Given the description of an element on the screen output the (x, y) to click on. 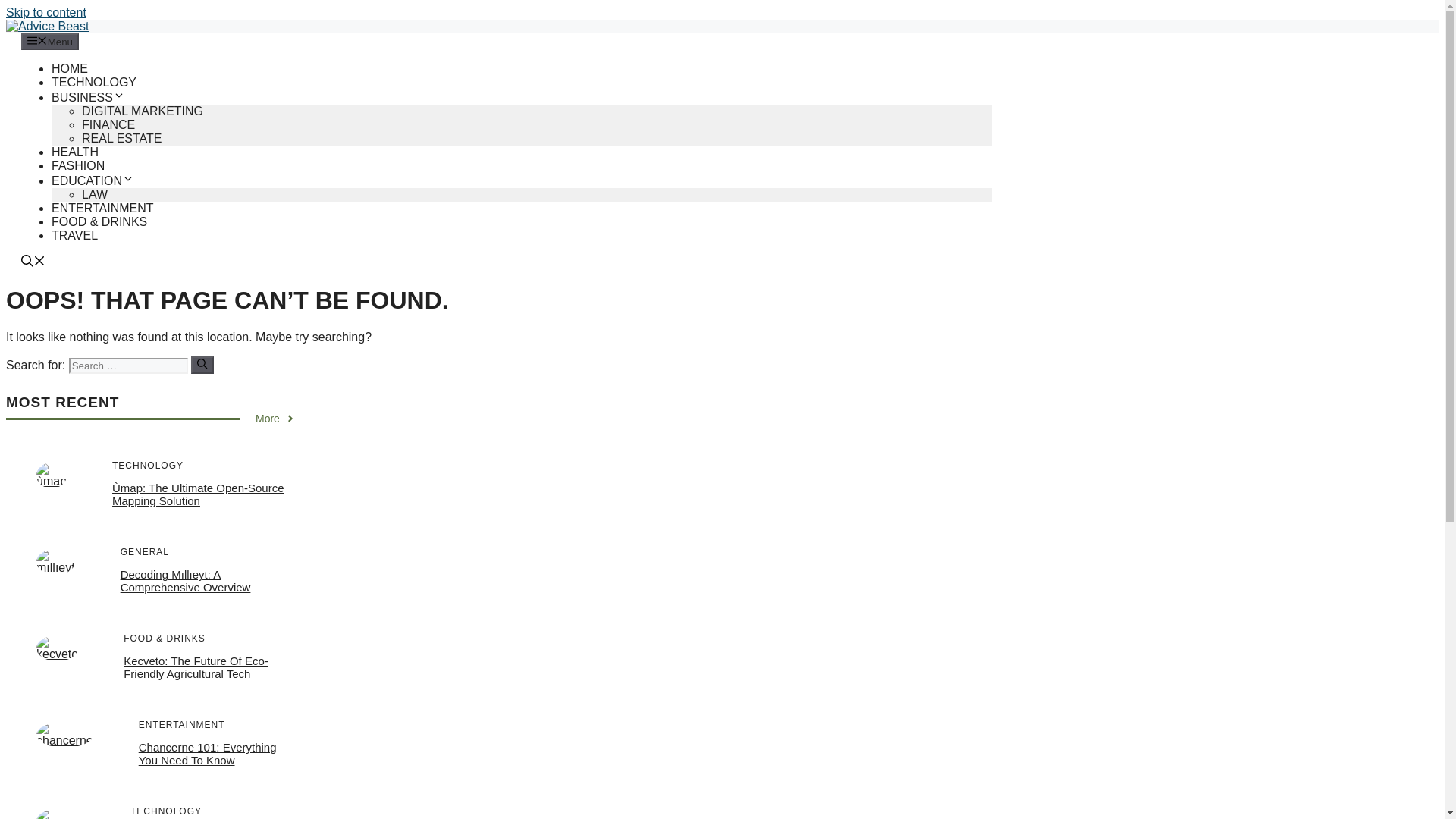
DIGITAL MARKETING (142, 110)
More (275, 418)
Menu (49, 41)
Chancerne 101: Everything You Need To Know (207, 753)
TECHNOLOGY (93, 82)
TRAVEL (73, 235)
EDUCATION (91, 180)
Skip to content (45, 11)
Kecveto: The Future Of Eco-Friendly Agricultural Tech (195, 667)
Skip to content (45, 11)
HEALTH (74, 151)
BUSINESS (87, 97)
Search for: (127, 365)
ENTERTAINMENT (102, 207)
HOME (68, 68)
